Given the description of an element on the screen output the (x, y) to click on. 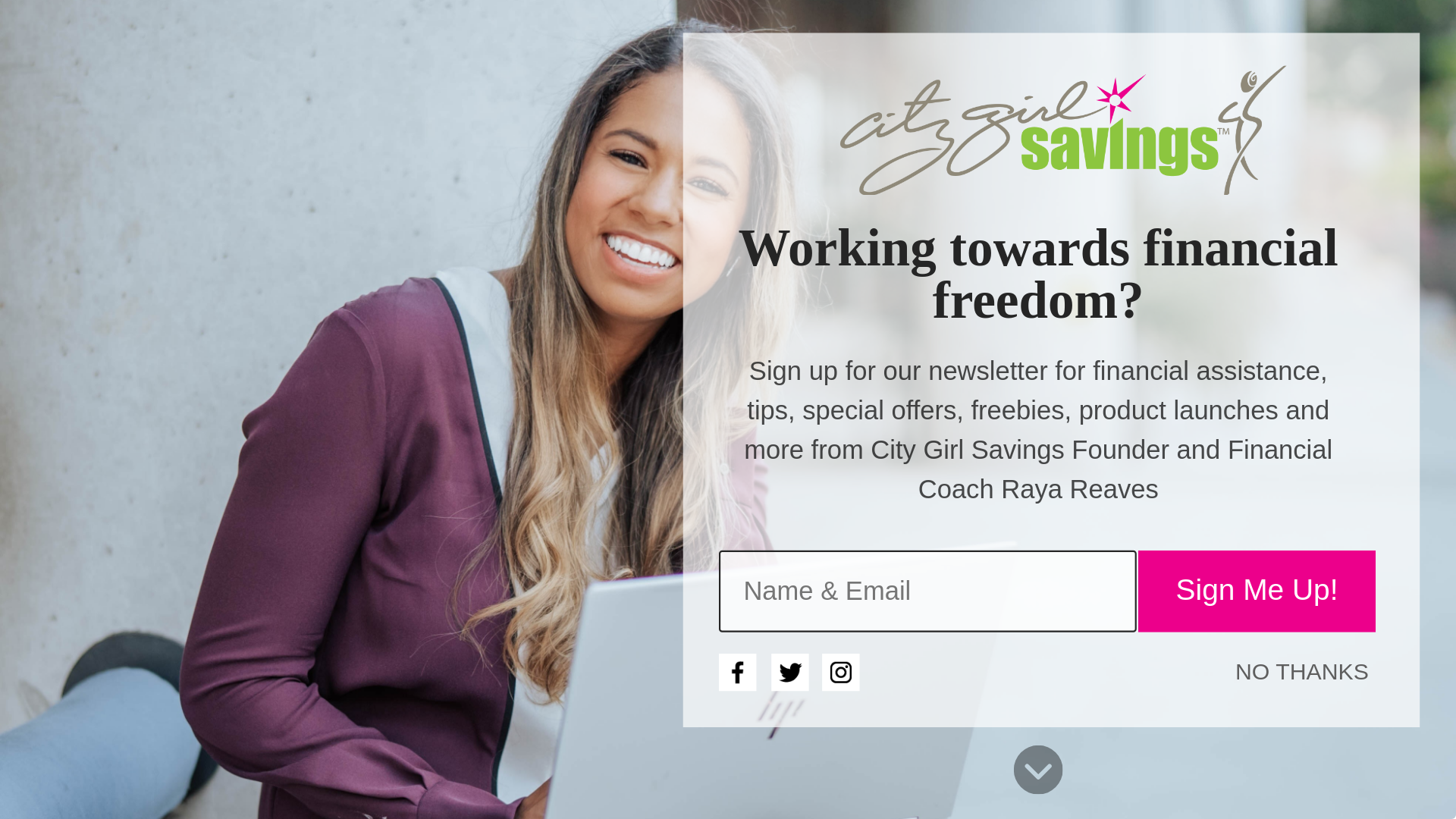
Search (15, 12)
NO THANKS (1250, 656)
Sign Me Up! (1192, 569)
Log In (747, 24)
Register (752, 24)
